Given the description of an element on the screen output the (x, y) to click on. 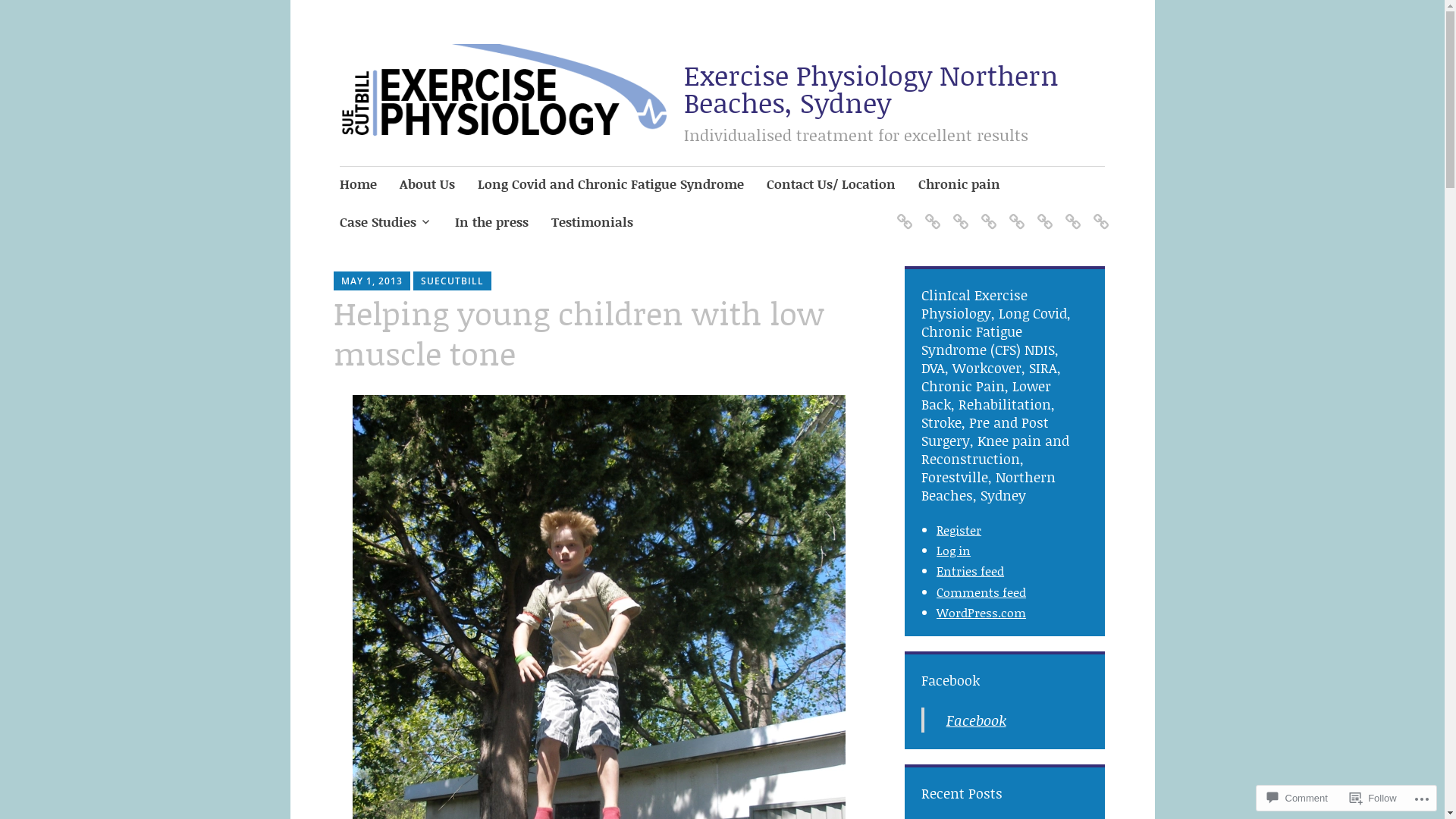
In the press Element type: text (491, 222)
Exercise Physiology Northern Beaches, Sydney Element type: text (871, 88)
Comment Element type: text (1296, 797)
Comments feed Element type: text (981, 591)
Facebook Element type: text (950, 680)
Entries feed Element type: text (970, 570)
Contact Us/ Location Element type: text (830, 184)
Home Element type: text (357, 184)
Register Element type: text (958, 529)
SUECUTBILL Element type: text (451, 280)
Follow Element type: text (1372, 797)
Chronic pain Element type: text (959, 184)
WordPress.com Element type: text (981, 612)
Facebook Element type: text (976, 719)
MAY 1, 2013 Element type: text (371, 280)
Log in Element type: text (953, 549)
Testimonials Element type: text (592, 222)
Long Covid and Chronic Fatigue Syndrome Element type: text (610, 184)
Case Studies Element type: text (385, 222)
About Us Element type: text (427, 184)
